Given the description of an element on the screen output the (x, y) to click on. 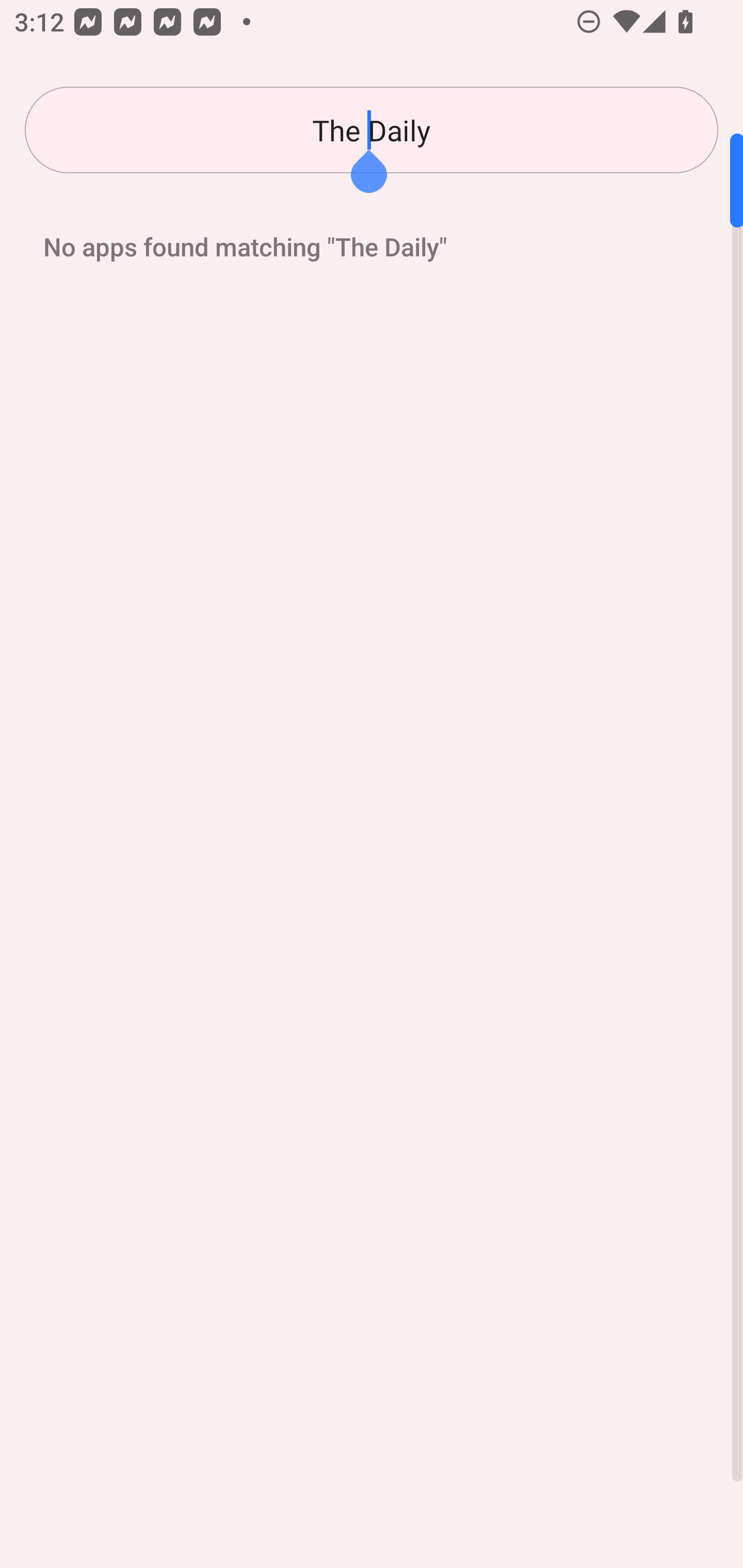
The Daily (371, 130)
